Given the description of an element on the screen output the (x, y) to click on. 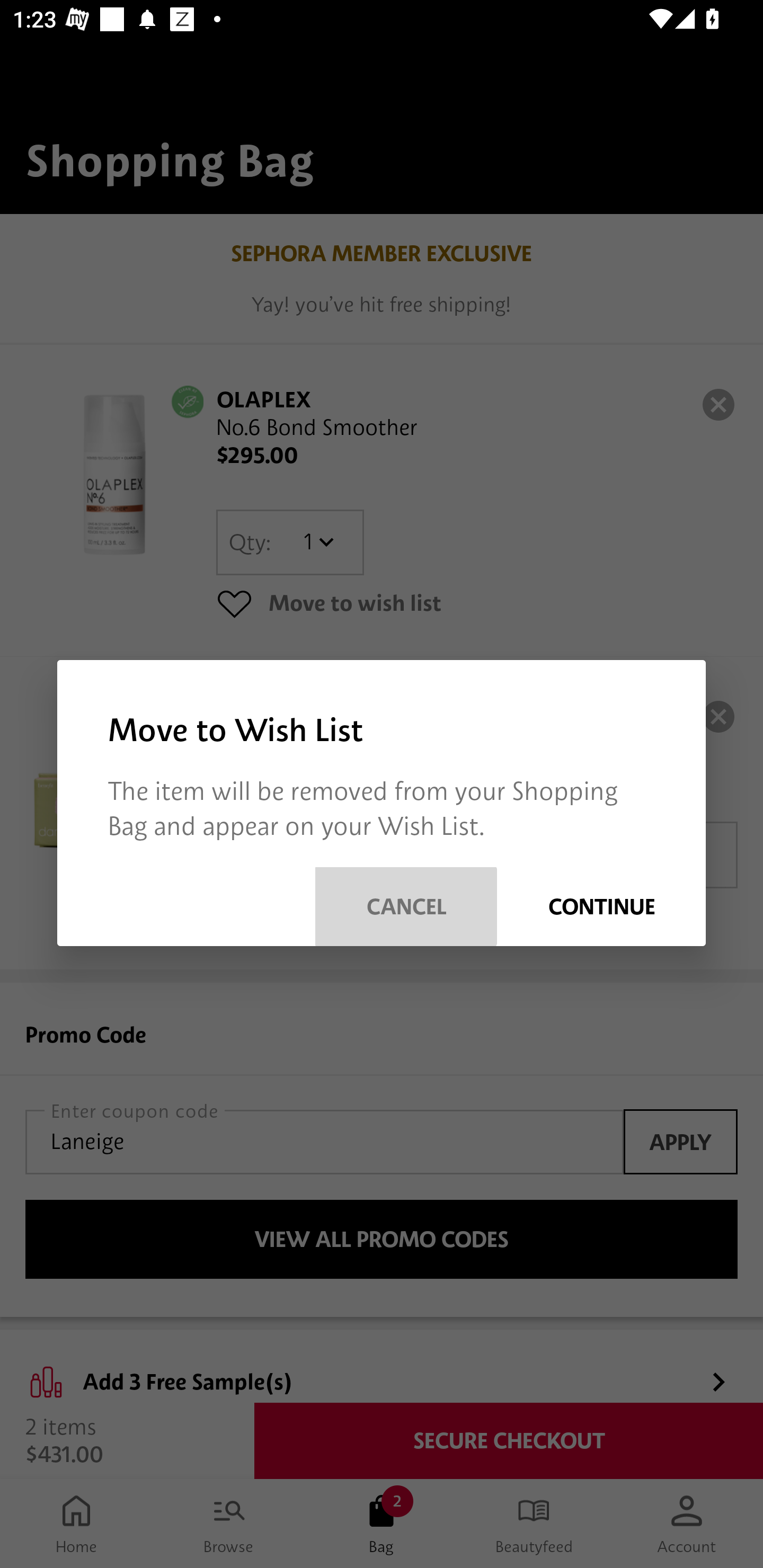
CANCEL (405, 906)
CONTINUE (600, 906)
